Given the description of an element on the screen output the (x, y) to click on. 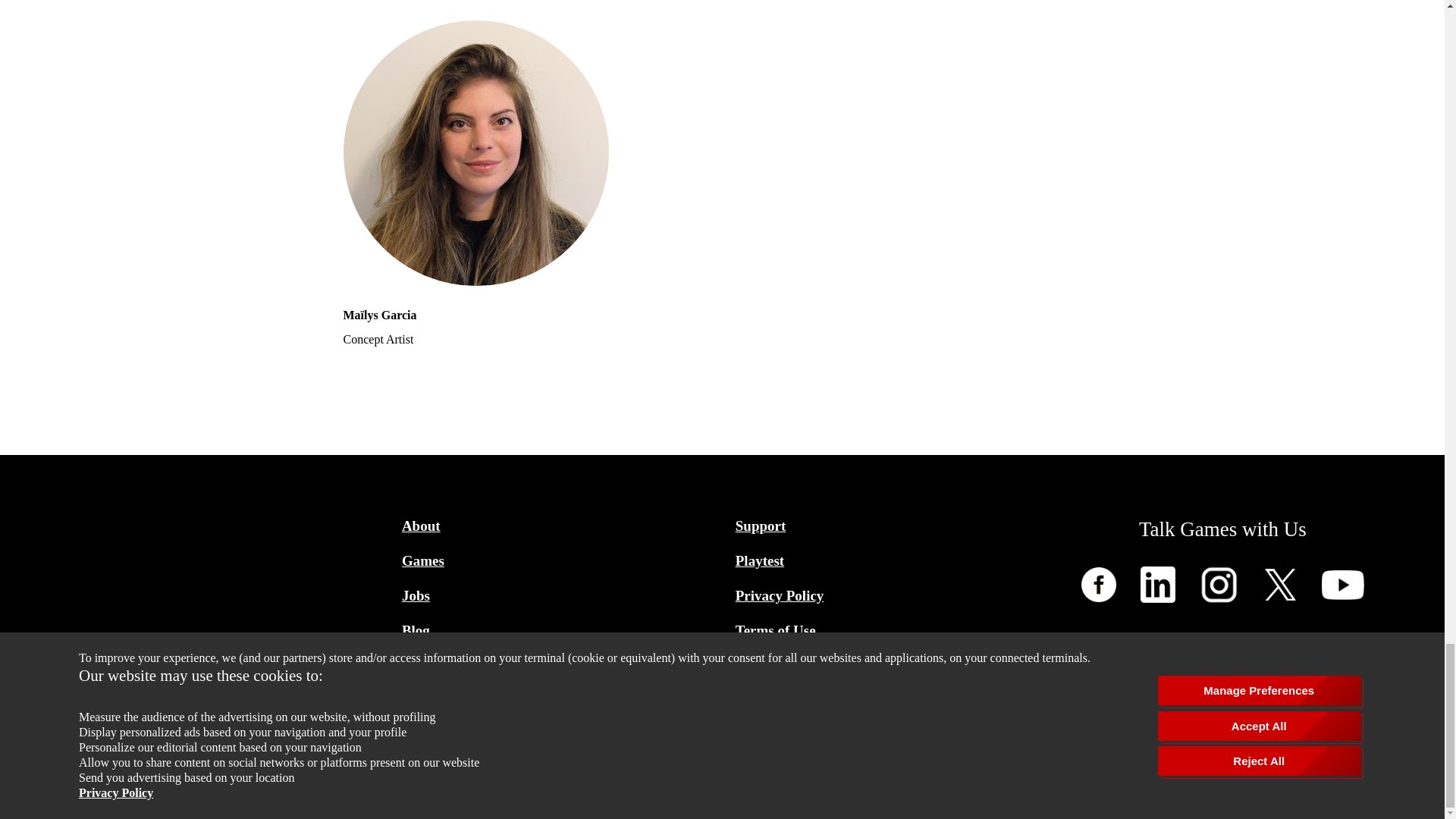
Games (555, 561)
About (555, 525)
